Given the description of an element on the screen output the (x, y) to click on. 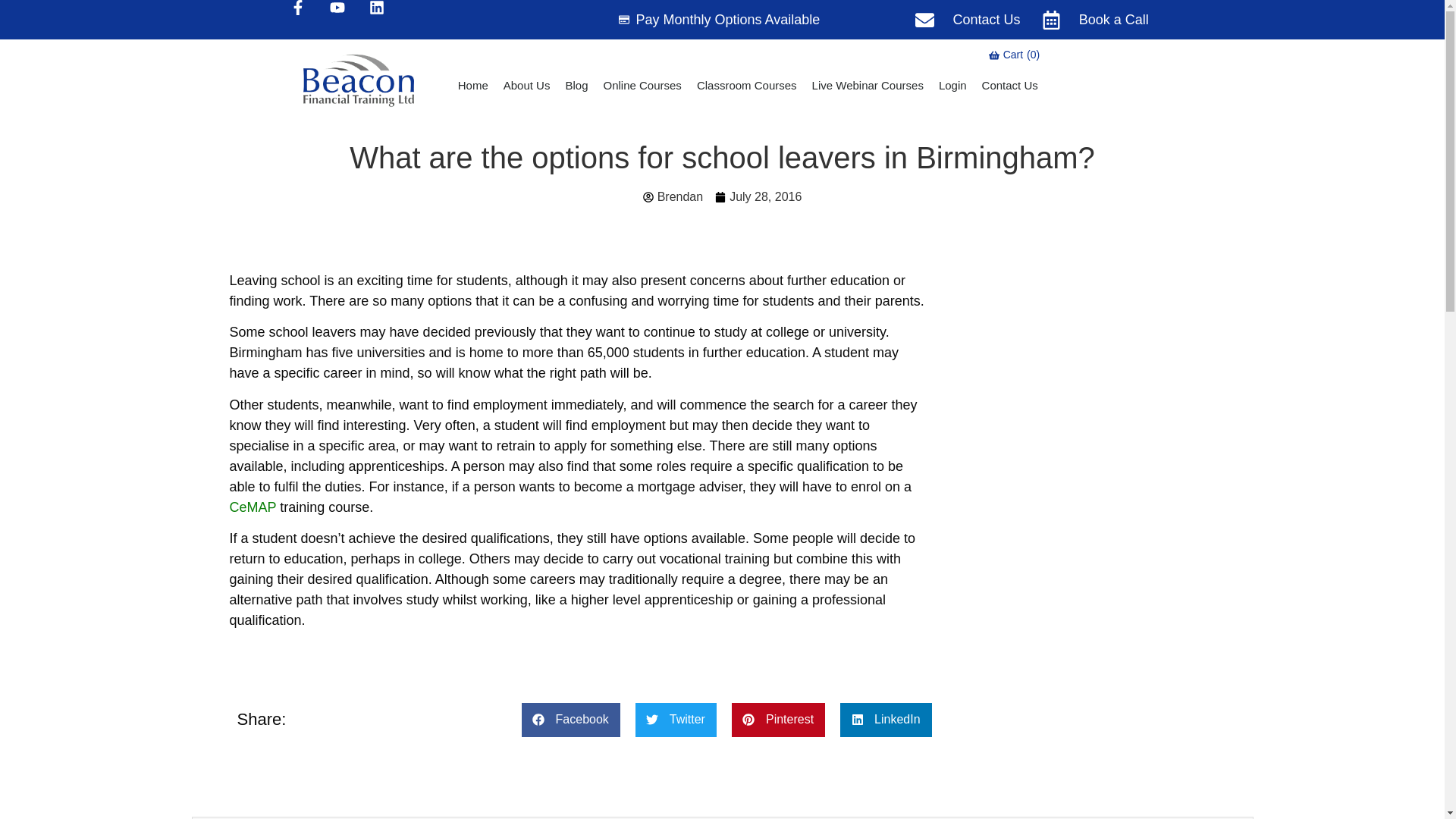
Home (472, 85)
Login (952, 85)
About Us (526, 85)
Online Courses (641, 85)
View your shopping cart (1014, 54)
Contact Us (1009, 85)
CeMAP Page (1014, 54)
Blog (252, 507)
Classroom Courses (576, 85)
Book a Call (746, 85)
Contact Us (1095, 19)
Live Webinar Courses (967, 19)
